Given the description of an element on the screen output the (x, y) to click on. 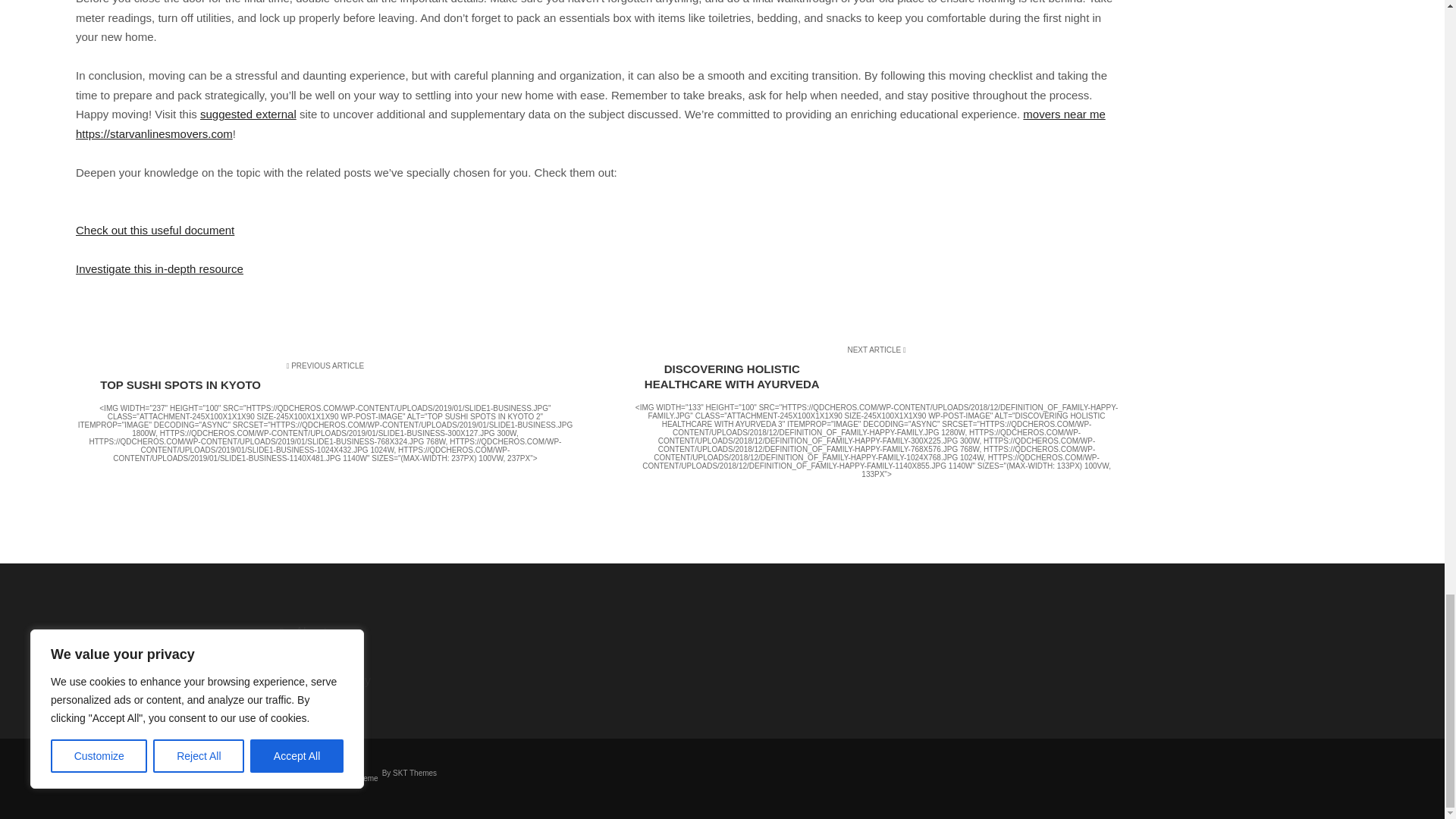
suggested external (248, 113)
About (379, 631)
Check out this useful document (154, 229)
Investigate this in-depth resource (159, 268)
Contact (379, 656)
